Given the description of an element on the screen output the (x, y) to click on. 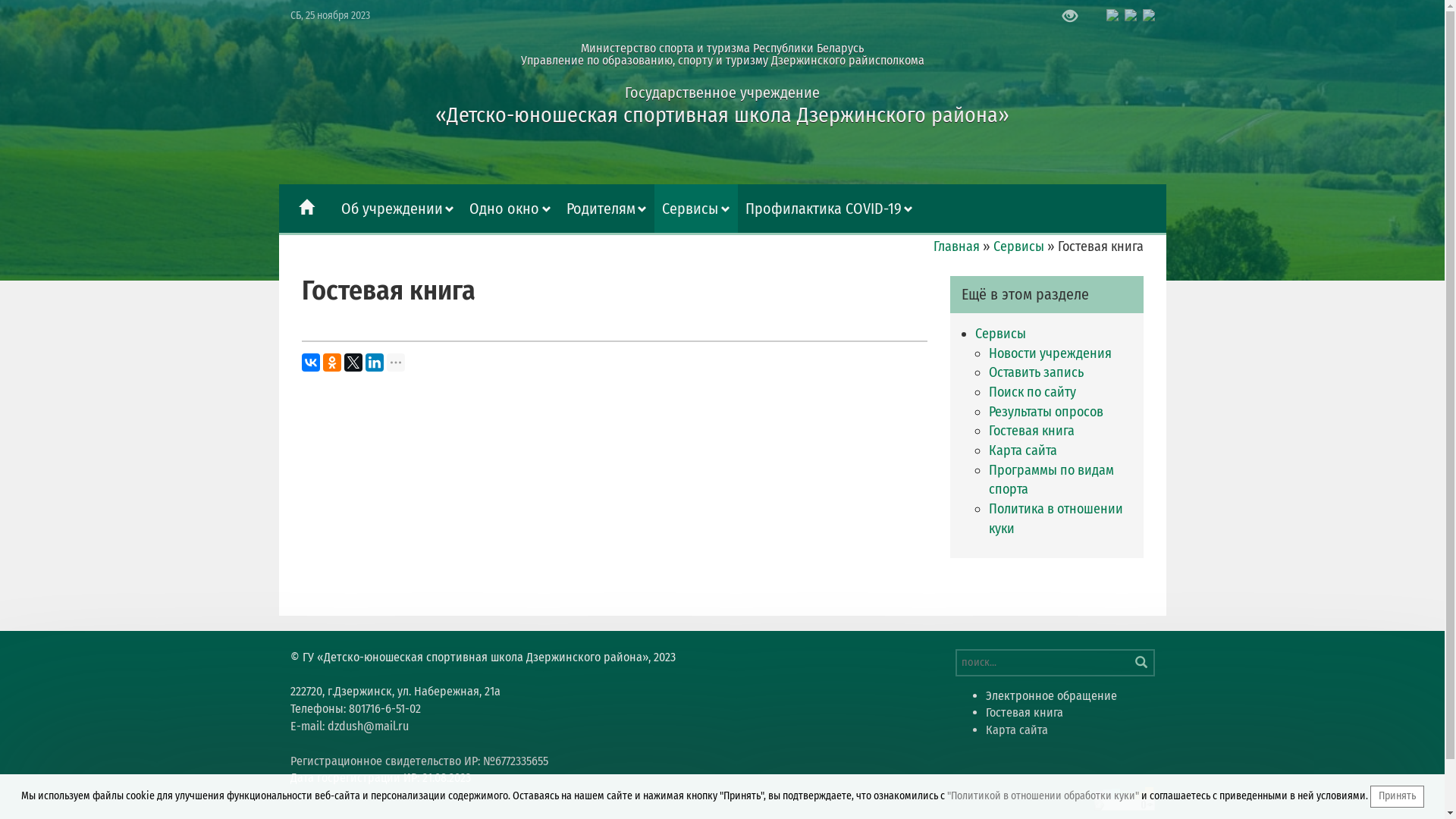
LinkedIn Element type: hover (374, 362)
Twitter Element type: hover (353, 362)
